Given the description of an element on the screen output the (x, y) to click on. 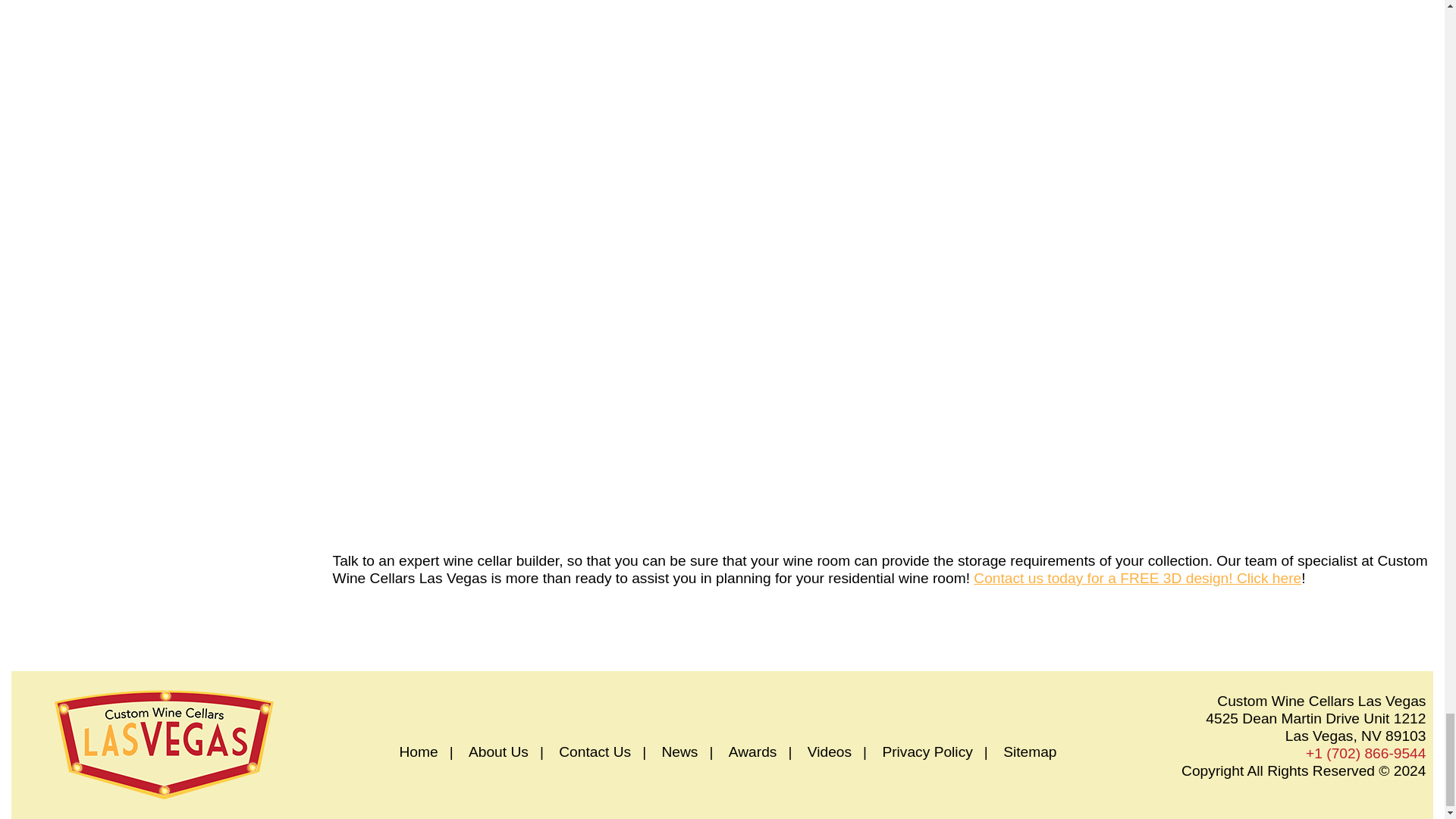
Contact us now! (1137, 578)
